Given the description of an element on the screen output the (x, y) to click on. 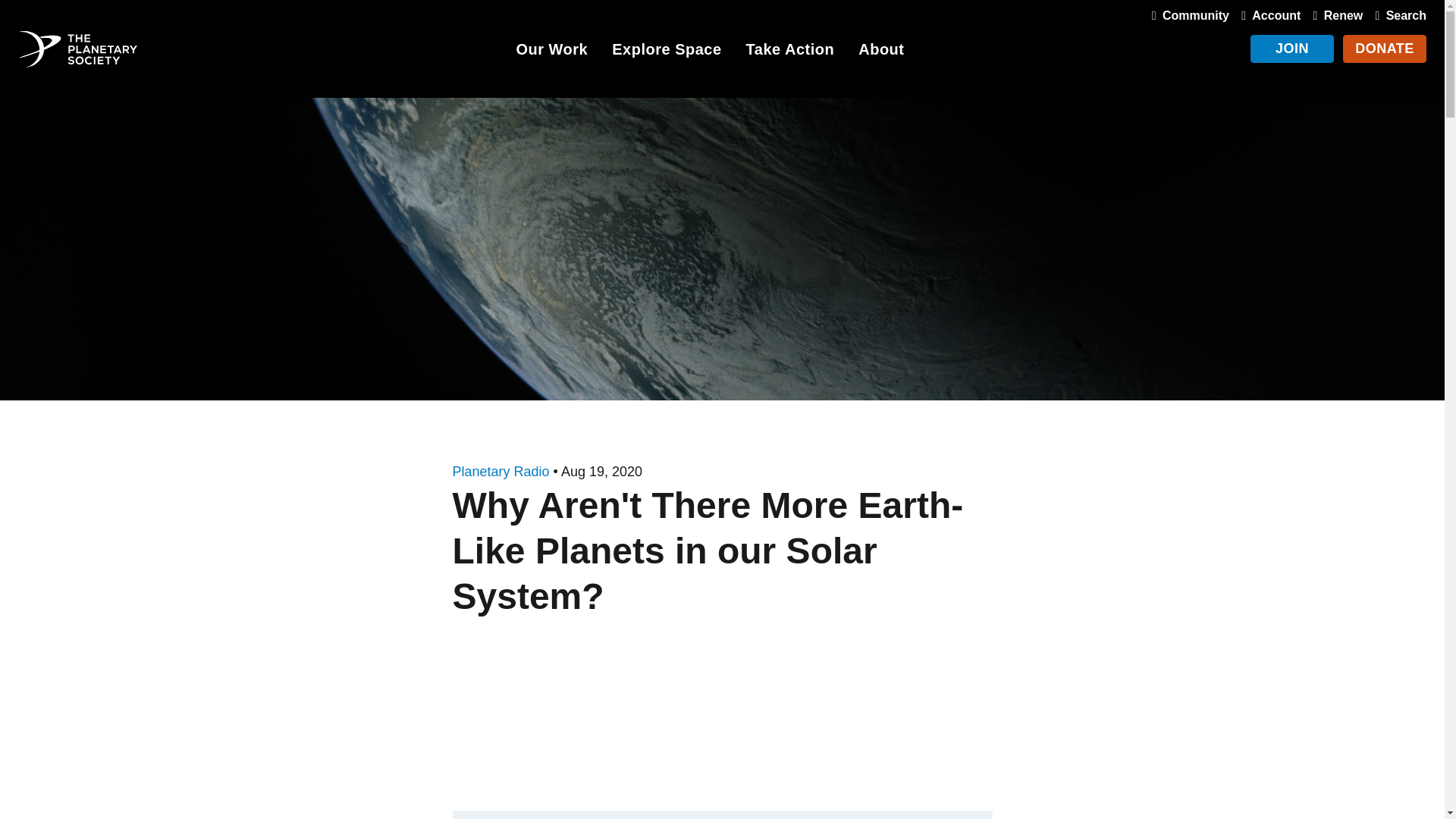
Take Action (789, 51)
Community (1186, 15)
Explore Space (665, 51)
About (881, 51)
DONATE (1384, 49)
JOIN (1291, 49)
Search (1397, 15)
Account (1267, 15)
Our Work (551, 51)
